Given the description of an element on the screen output the (x, y) to click on. 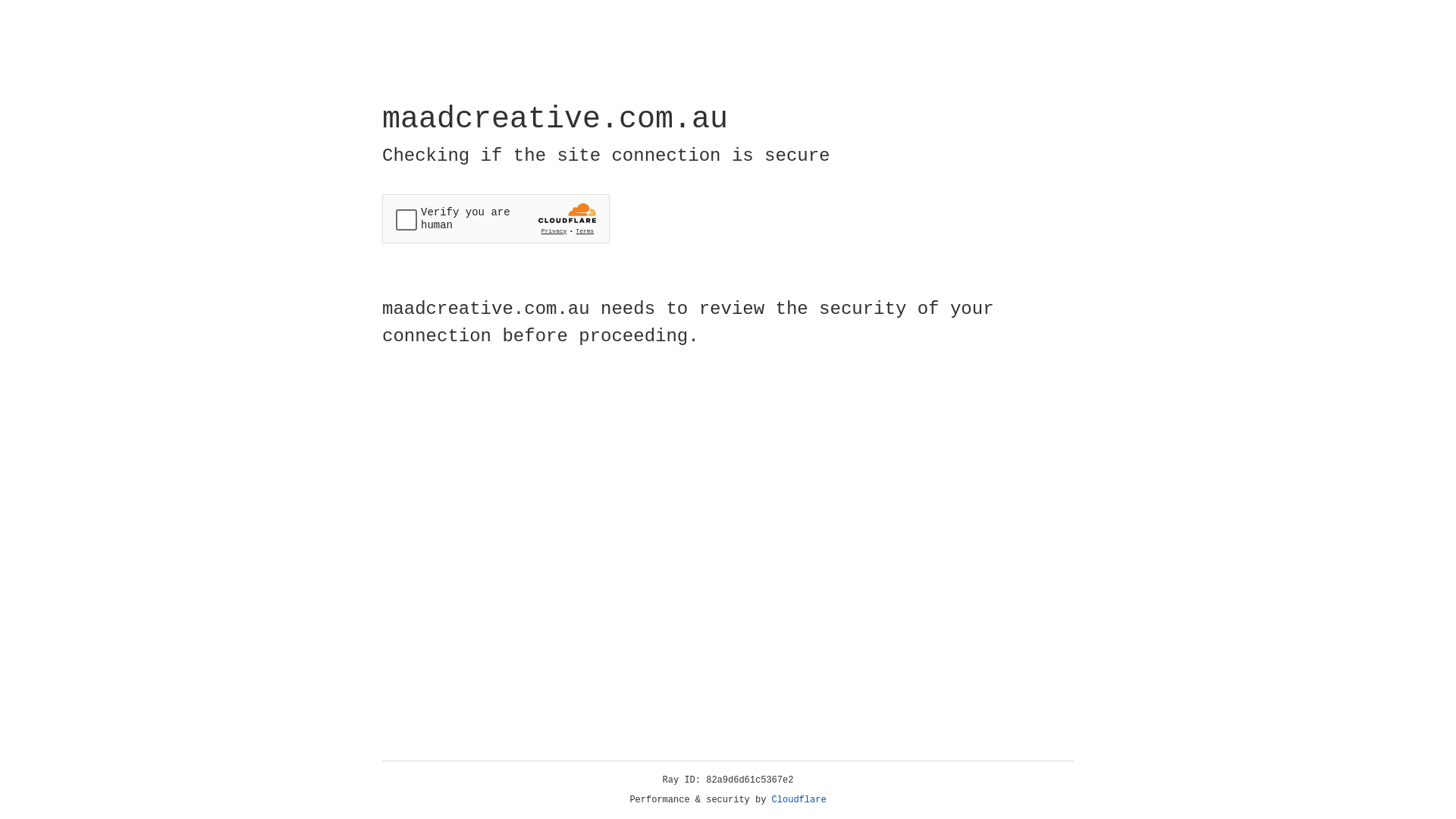
Widget containing a Cloudflare security challenge Element type: hover (495, 218)
Cloudflare Element type: text (798, 799)
